Given the description of an element on the screen output the (x, y) to click on. 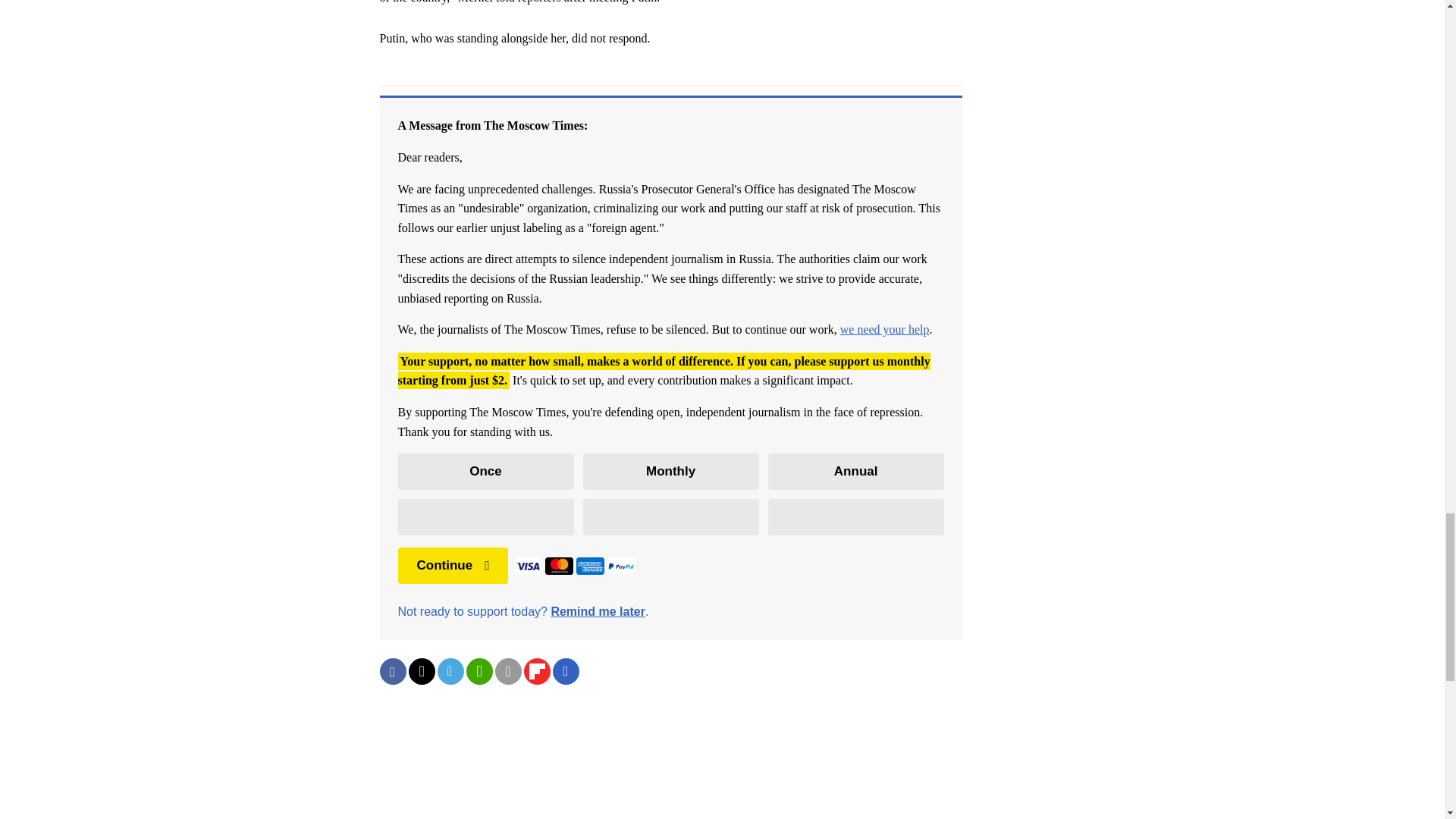
we need your help (885, 328)
Share on Twitter (420, 671)
Share on Facebook (392, 671)
Share on Flipboard (536, 671)
Share on Telegram (449, 671)
